Given the description of an element on the screen output the (x, y) to click on. 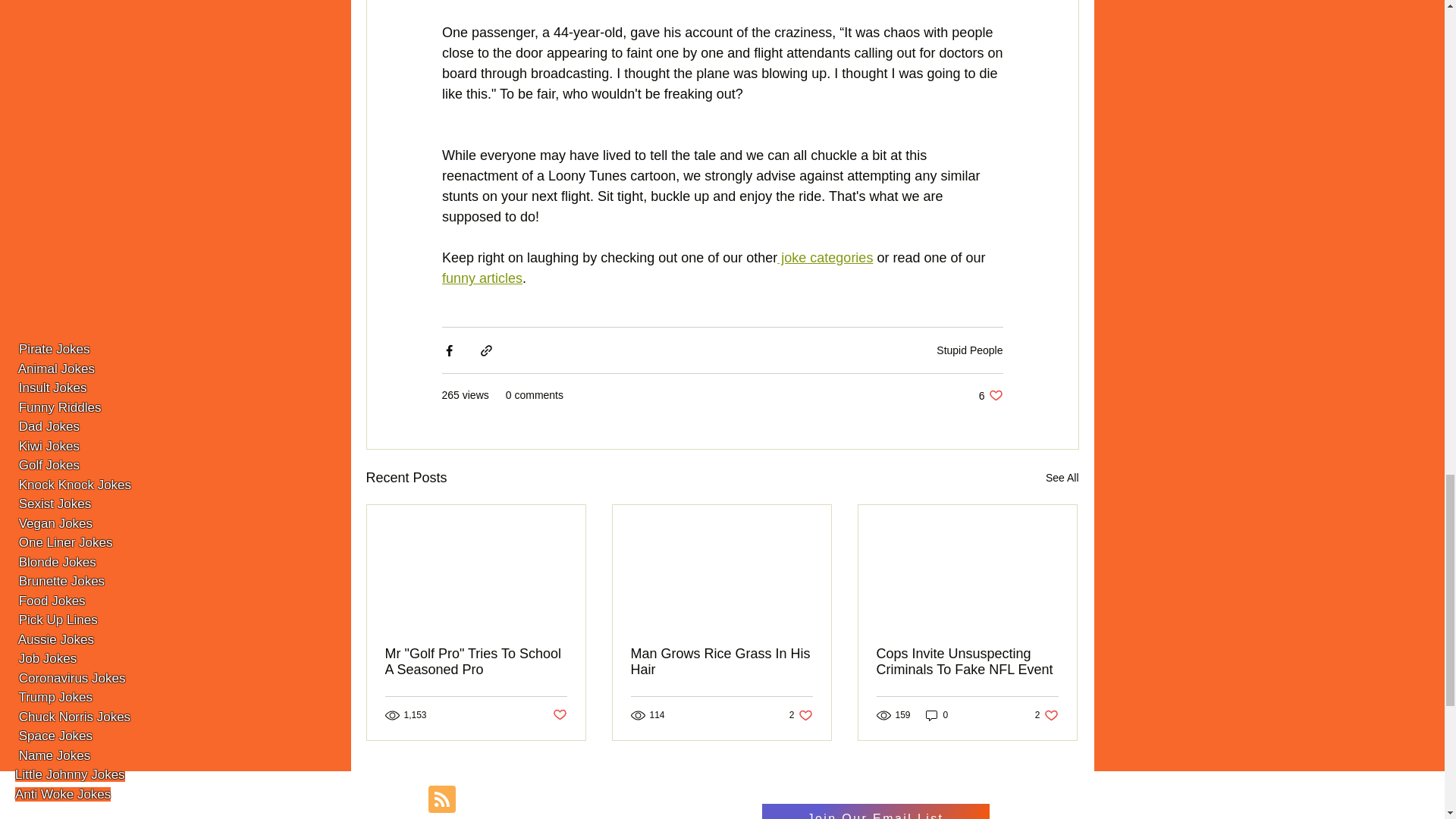
Mr "Golf Pro" Tries To School A Seasoned Pro (476, 662)
See All (1046, 715)
Stupid People (1061, 477)
0 (969, 349)
 joke categories (937, 715)
funny articles (824, 257)
Post not marked as liked (800, 715)
Man Grows Rice Grass In His Hair (481, 278)
